Given the description of an element on the screen output the (x, y) to click on. 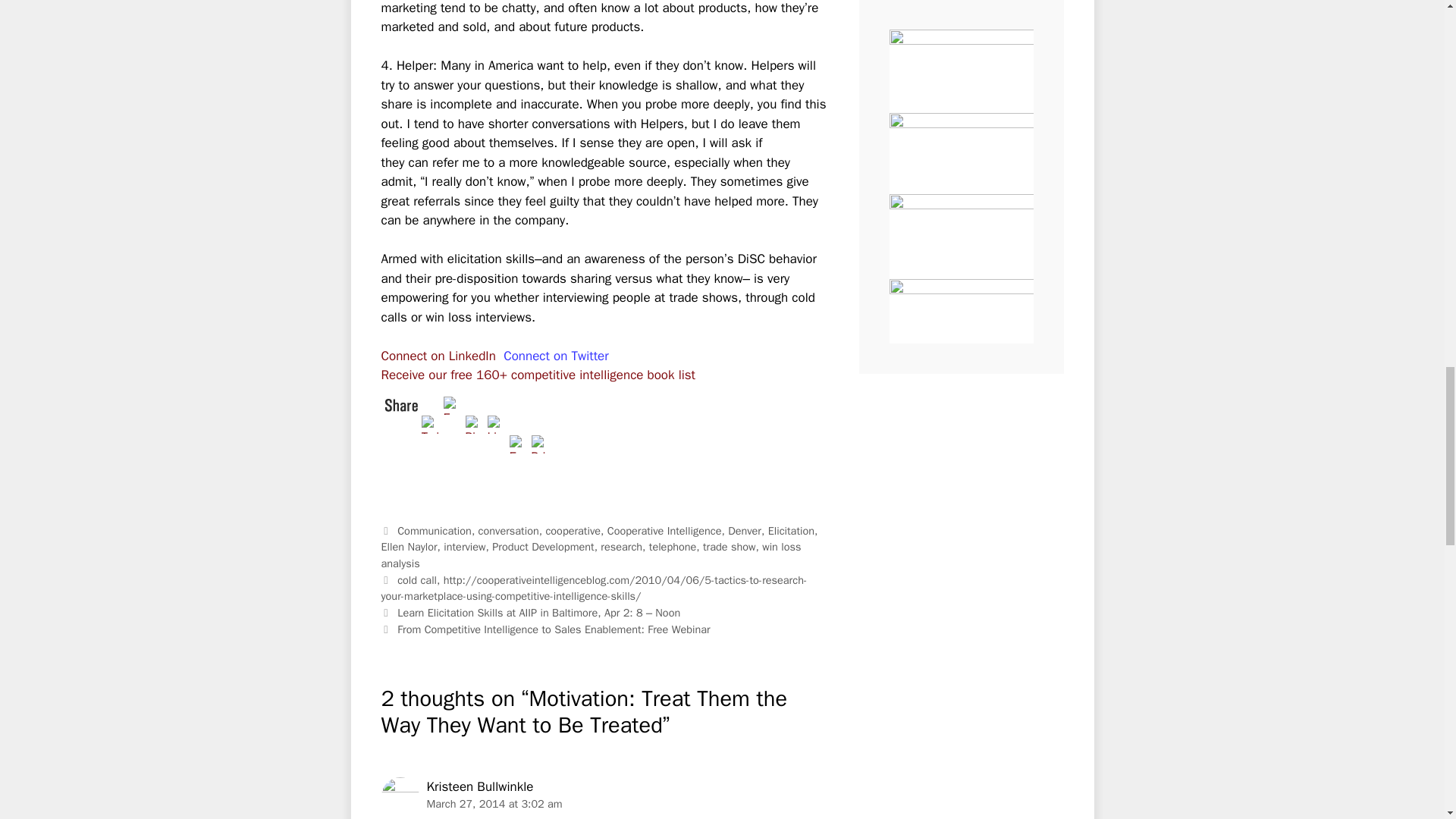
Email (520, 442)
Pinterest (476, 422)
Connect on LinkedIn (437, 355)
Previous (529, 612)
Print (542, 442)
Facebook (453, 403)
Linkedin (497, 422)
Next (545, 629)
Twitter (433, 422)
